Given the description of an element on the screen output the (x, y) to click on. 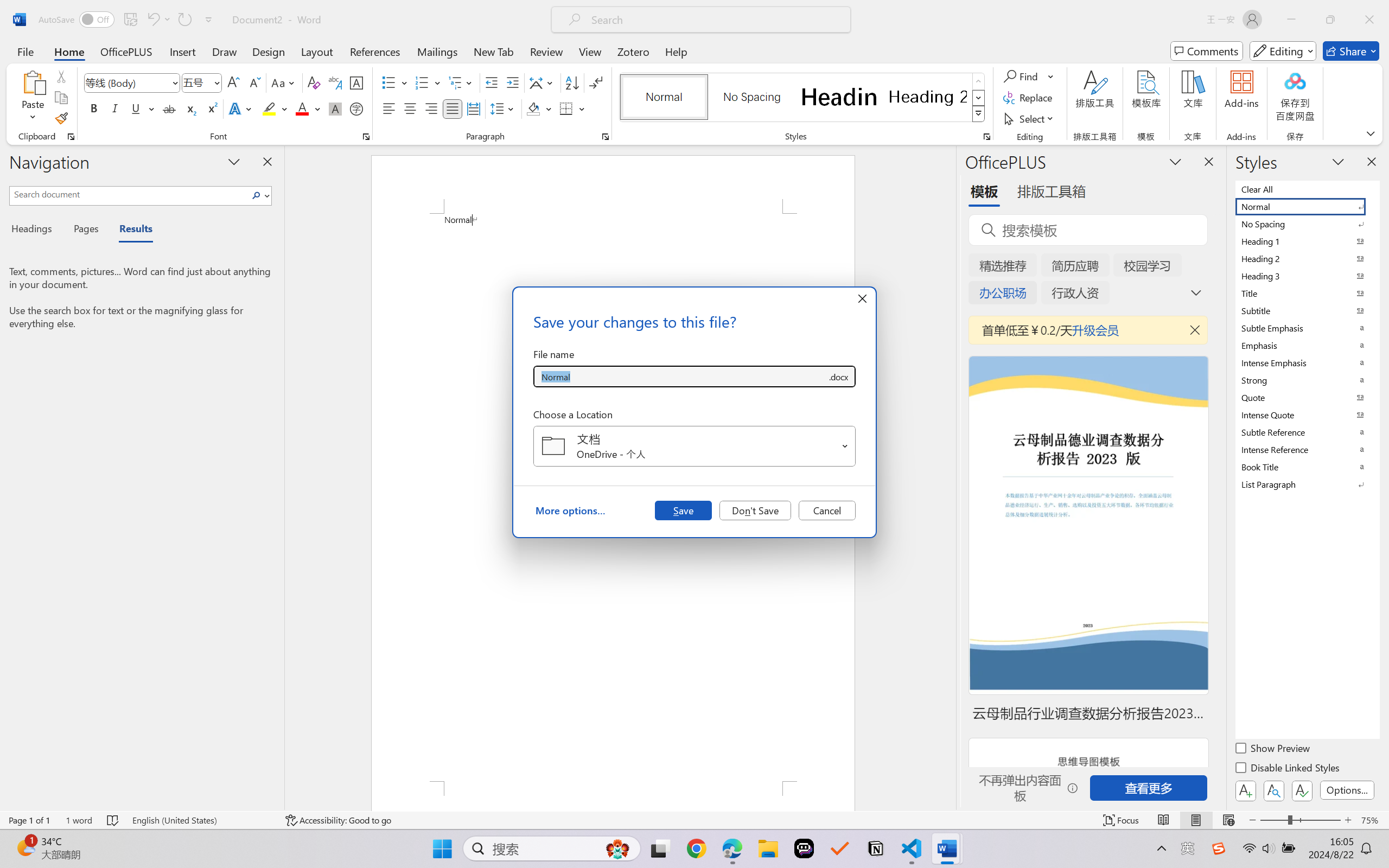
Font... (365, 136)
Disable Linked Styles (1287, 769)
Share (1350, 51)
Emphasis (1306, 345)
Minimize (1291, 19)
Cancel (826, 509)
Text Effects and Typography (241, 108)
Subtle Emphasis (1306, 327)
Quick Access Toolbar (127, 19)
Subscript (190, 108)
Search document (128, 193)
